Given the description of an element on the screen output the (x, y) to click on. 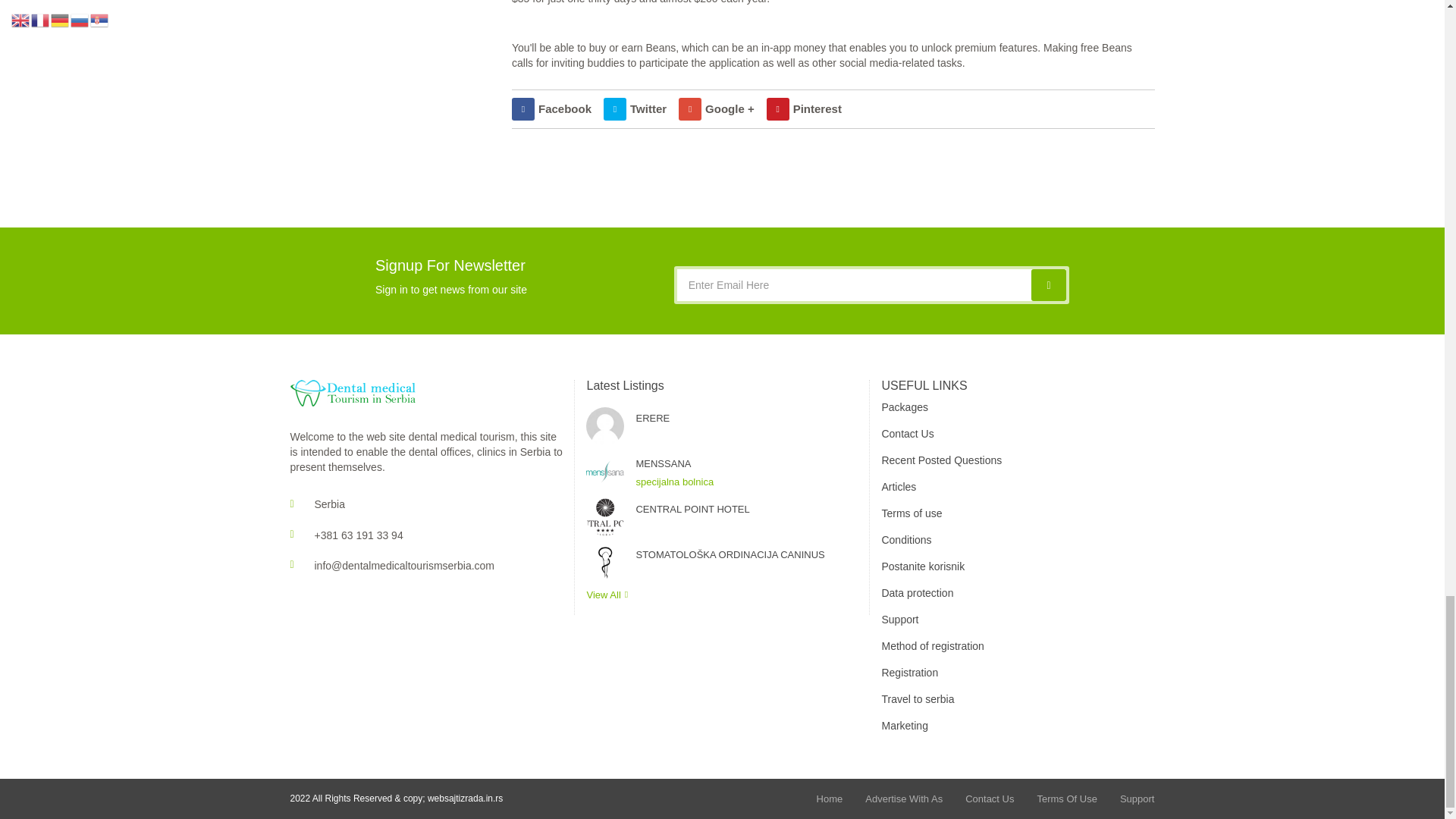
Pinterest (804, 108)
MENSSANA (745, 463)
ERERE (745, 418)
Facebook (551, 108)
Twitter (635, 108)
